Given the description of an element on the screen output the (x, y) to click on. 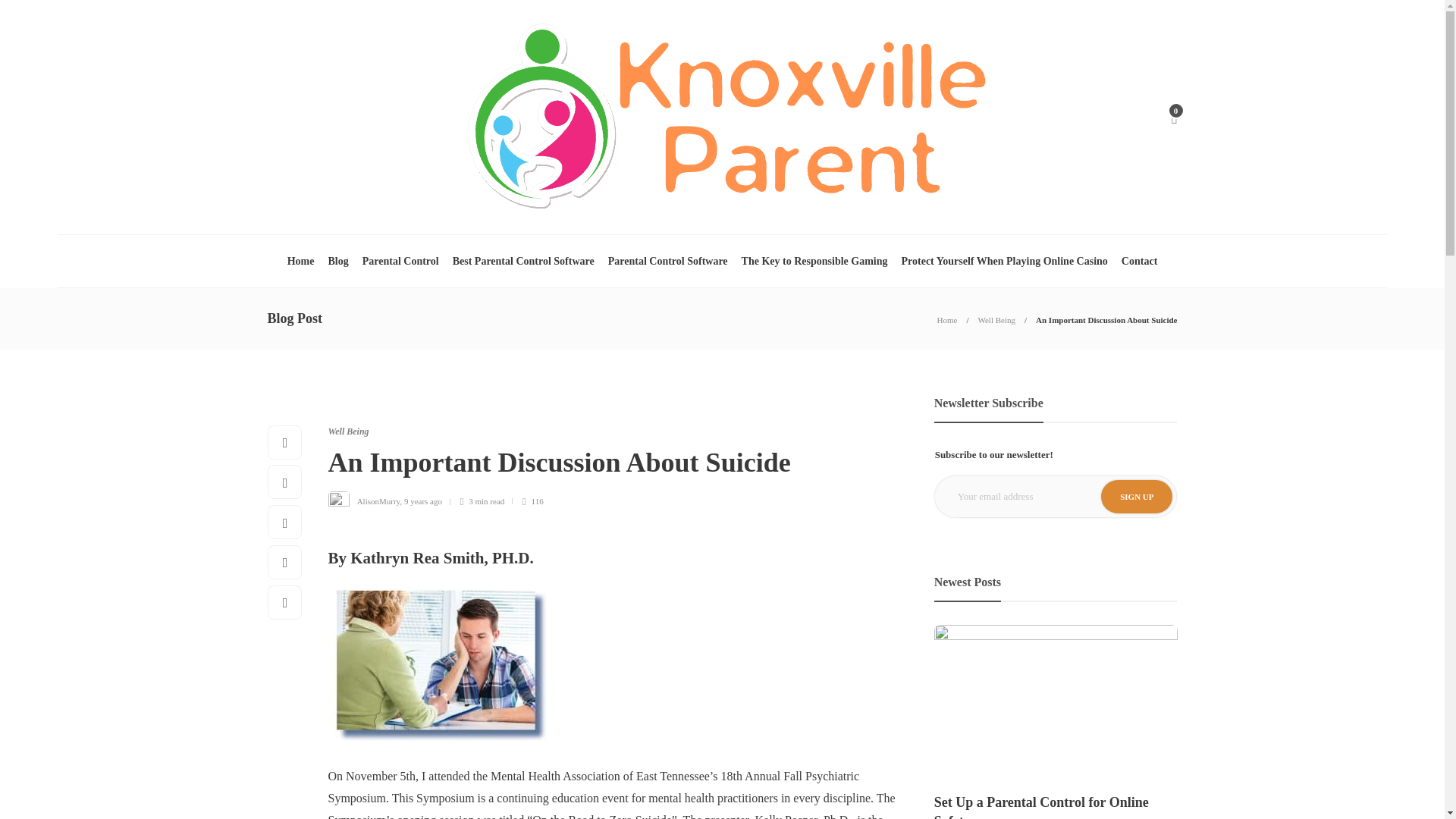
AlisonMurry (378, 501)
Well Being (347, 430)
Home (300, 261)
Blog (337, 261)
The Key to Responsible Gaming (814, 261)
An Important Discussion About Suicide (1105, 319)
Parental Control (400, 261)
Best Parental Control Software (523, 261)
Contact (1139, 261)
Home (947, 319)
Parental Control Software (668, 261)
0 (1173, 117)
Home (947, 319)
9 years ago (423, 501)
An Important Discussion About Suicide  (603, 466)
